Given the description of an element on the screen output the (x, y) to click on. 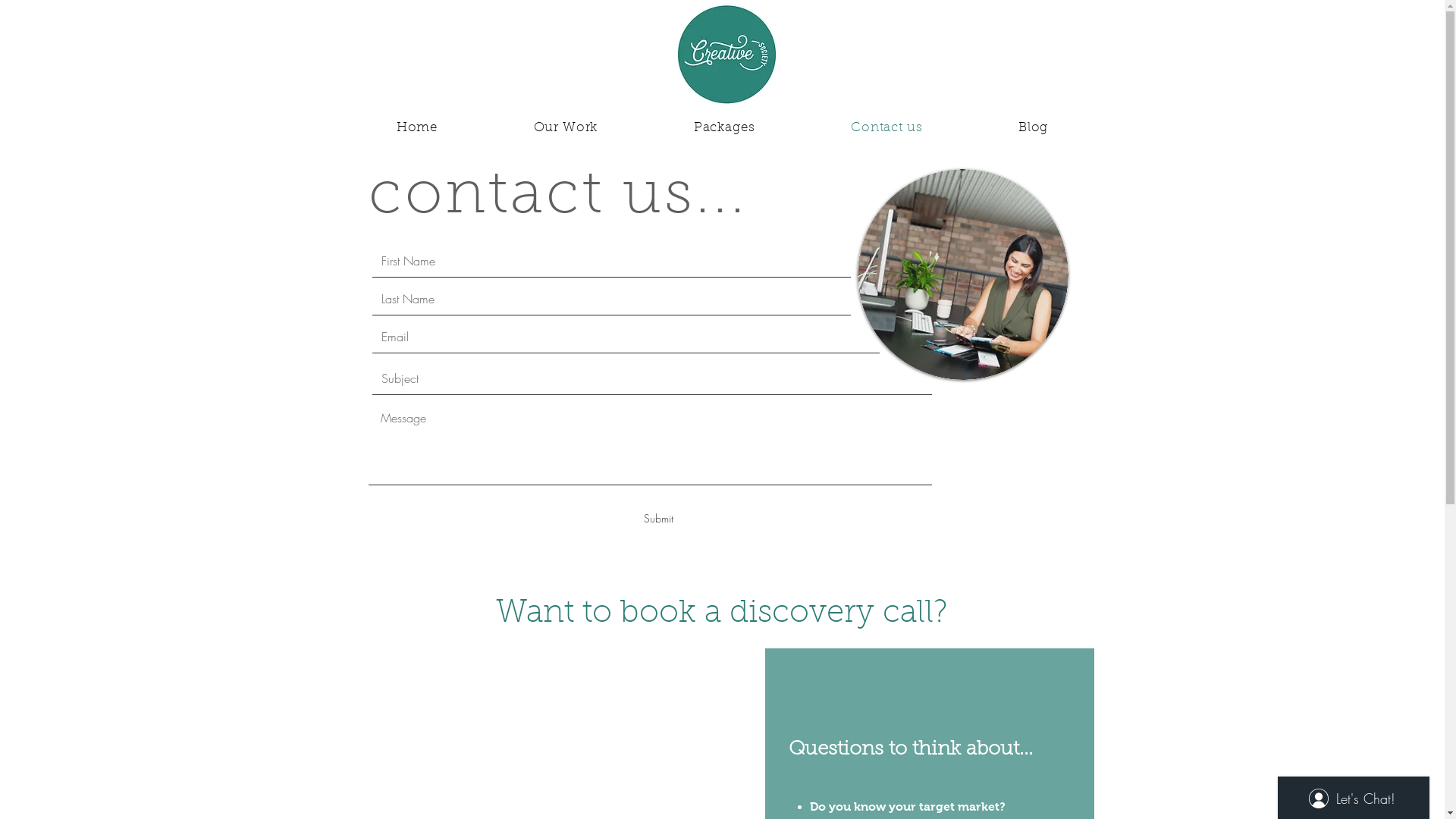
Contact us Element type: text (886, 127)
Blog Element type: text (1033, 127)
Our Work Element type: text (565, 127)
Packages Element type: text (724, 127)
Submit Element type: text (658, 518)
Home Element type: text (416, 127)
